Given the description of an element on the screen output the (x, y) to click on. 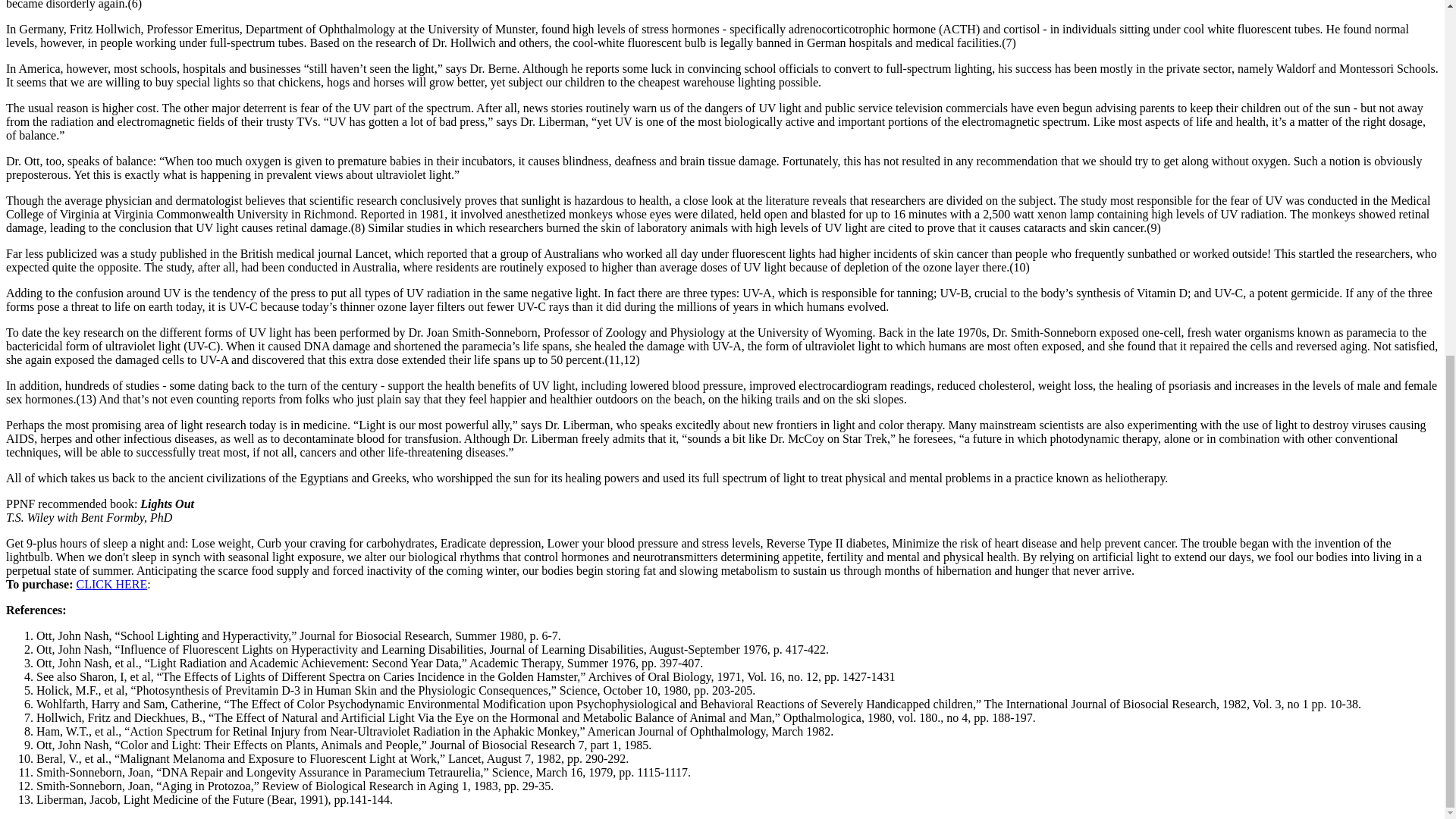
CLICK HERE (111, 584)
